Given the description of an element on the screen output the (x, y) to click on. 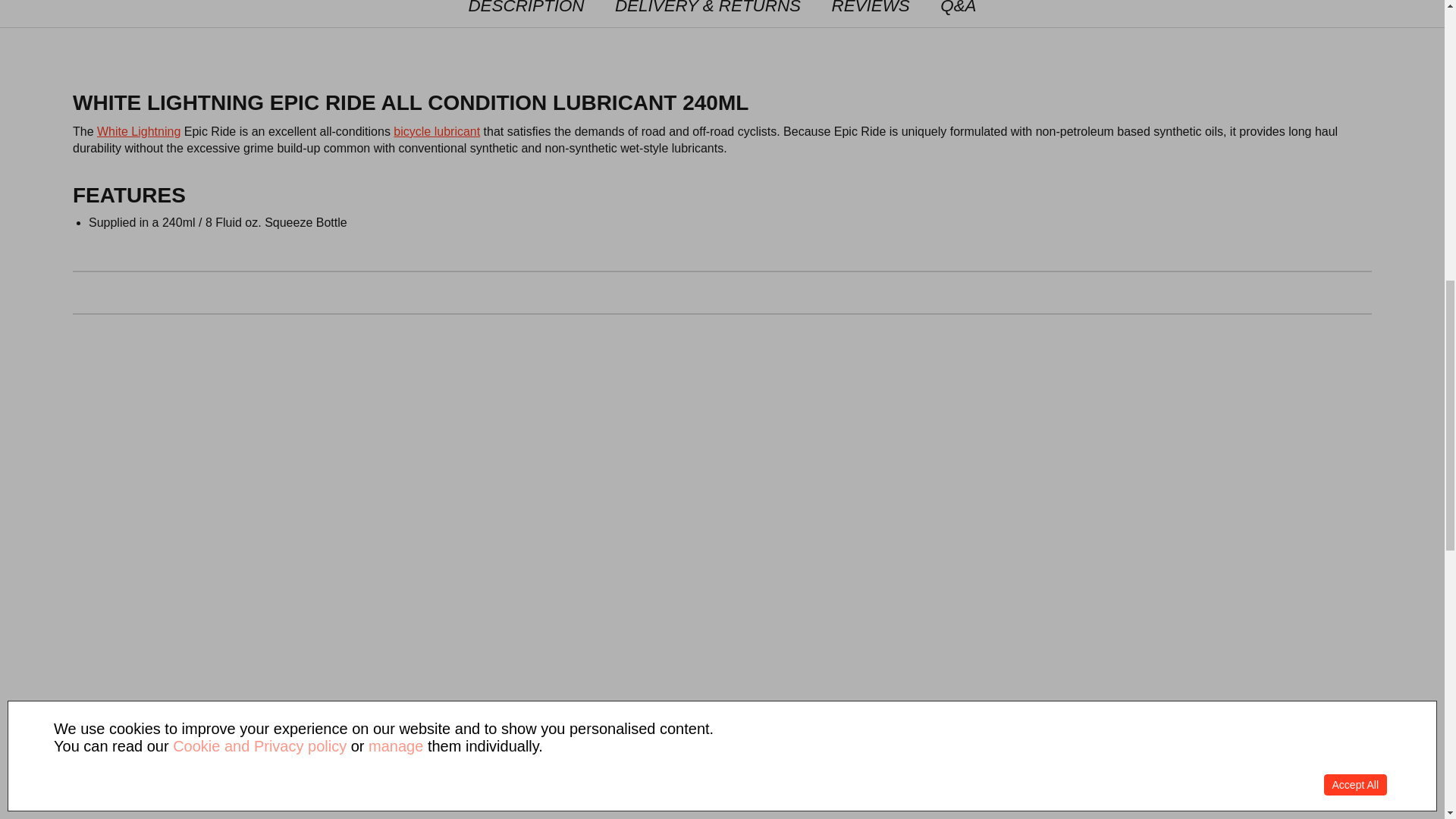
REVIEWS (871, 13)
DESCRIPTION (526, 13)
